Given the description of an element on the screen output the (x, y) to click on. 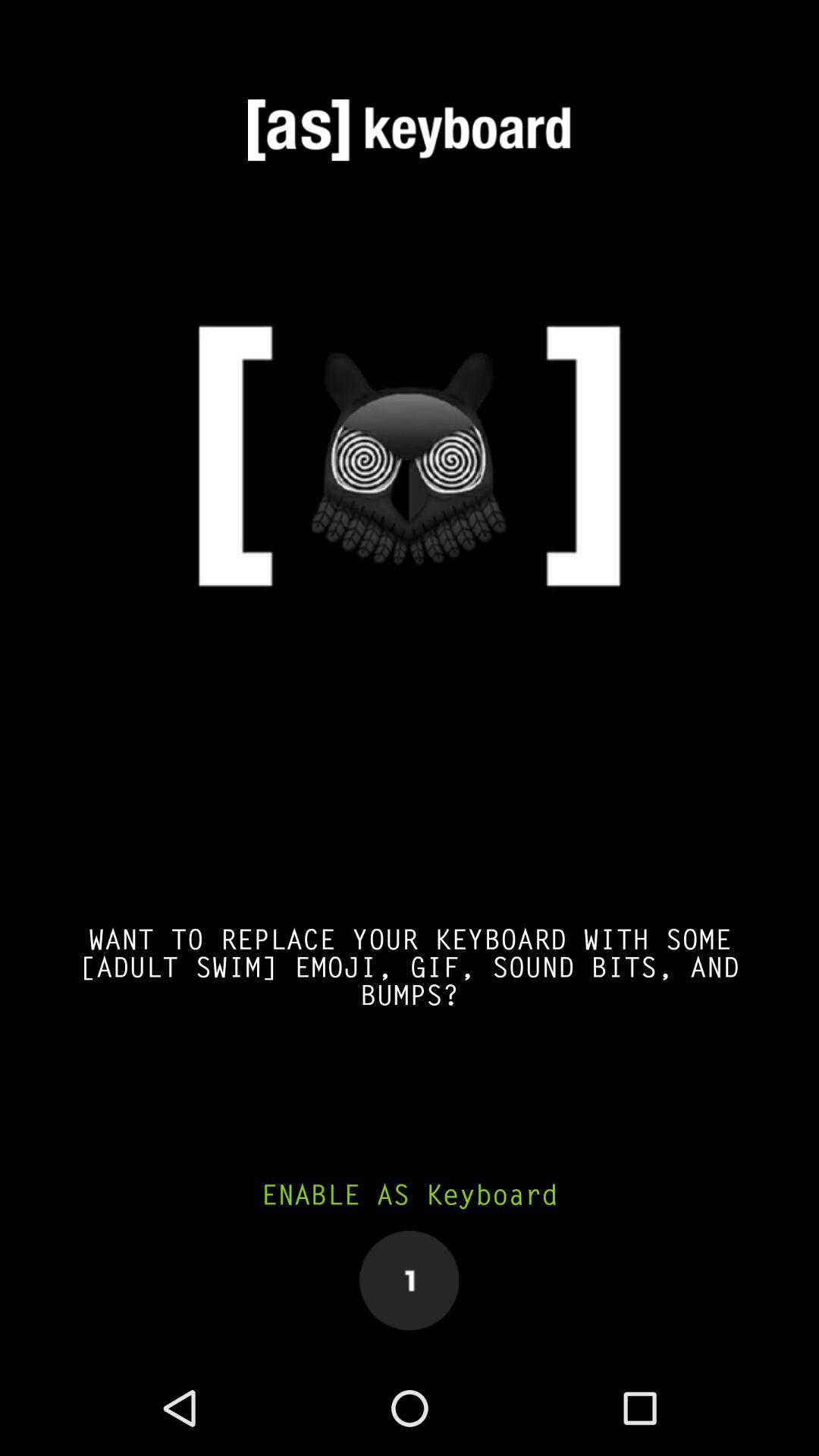
launch enable as keyboard (409, 1194)
